Given the description of an element on the screen output the (x, y) to click on. 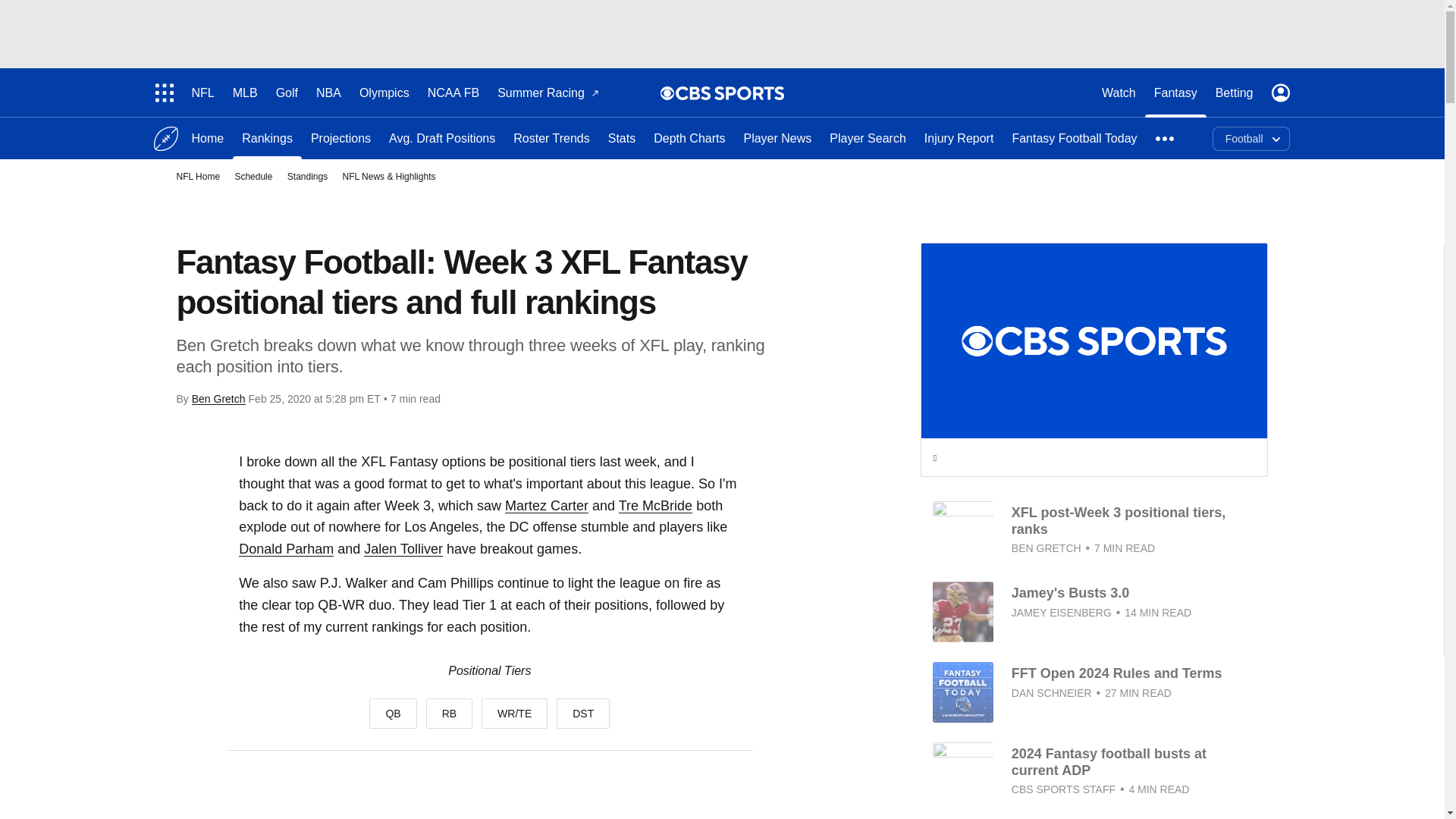
CBS Logo (729, 92)
Football (164, 137)
CBS Eye (667, 92)
